Given the description of an element on the screen output the (x, y) to click on. 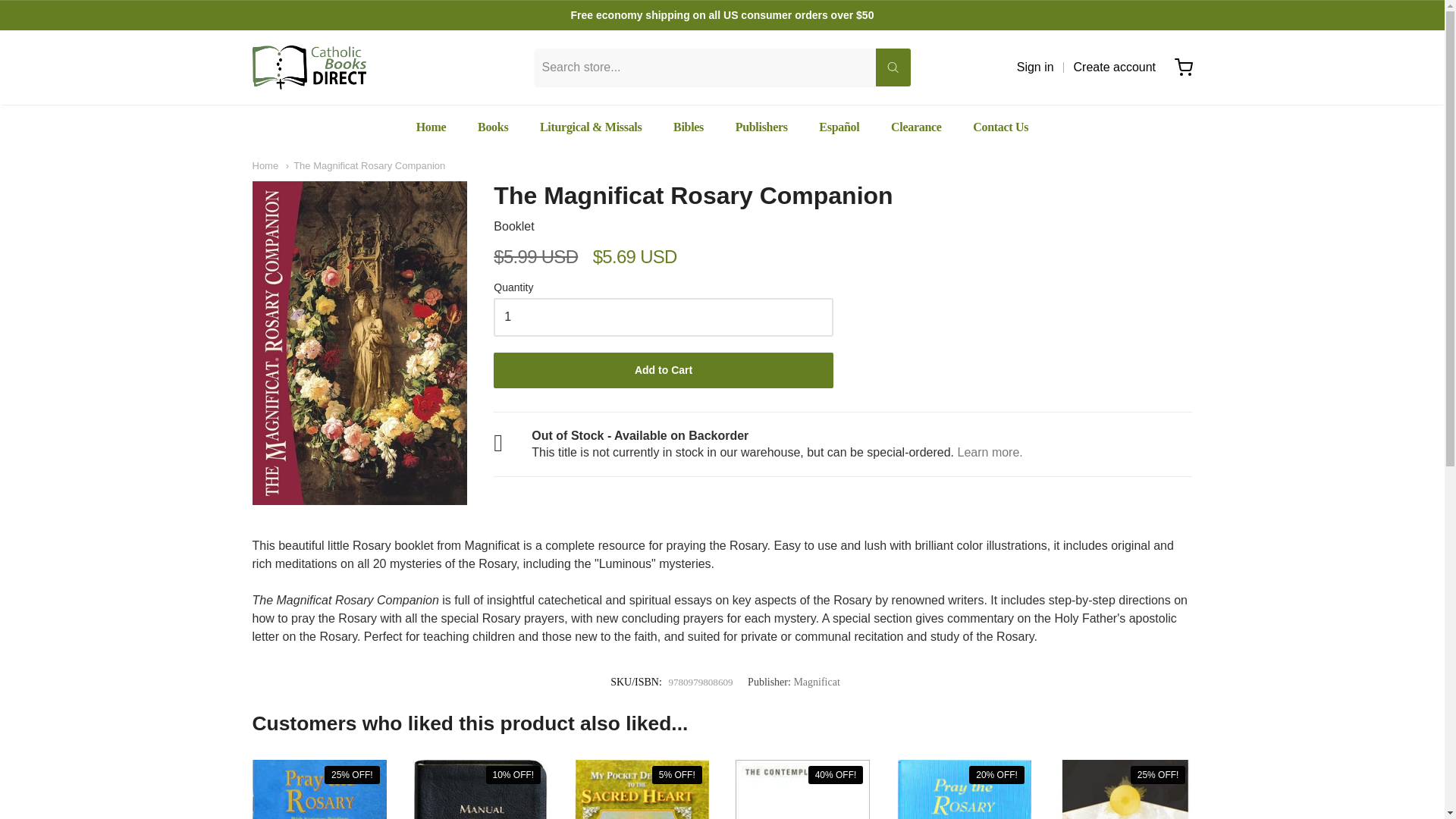
The Magnificat Rosary Companion (358, 342)
1 (662, 316)
Manual of Prayers, Black, Third Edition (480, 789)
Magnificat (816, 681)
Home (431, 127)
Create account (1115, 67)
Sign in (1035, 67)
Credo: A Catholic Prayer Book (1125, 789)
Pray The Rosary (963, 789)
Home (264, 165)
My Pocket Book Of Devotions To The Sacred Heart (642, 789)
Catholic Books Direct (308, 67)
The Magnificat Rosary Companion (365, 165)
The Contemplative Heart (802, 789)
Books (492, 127)
